Given the description of an element on the screen output the (x, y) to click on. 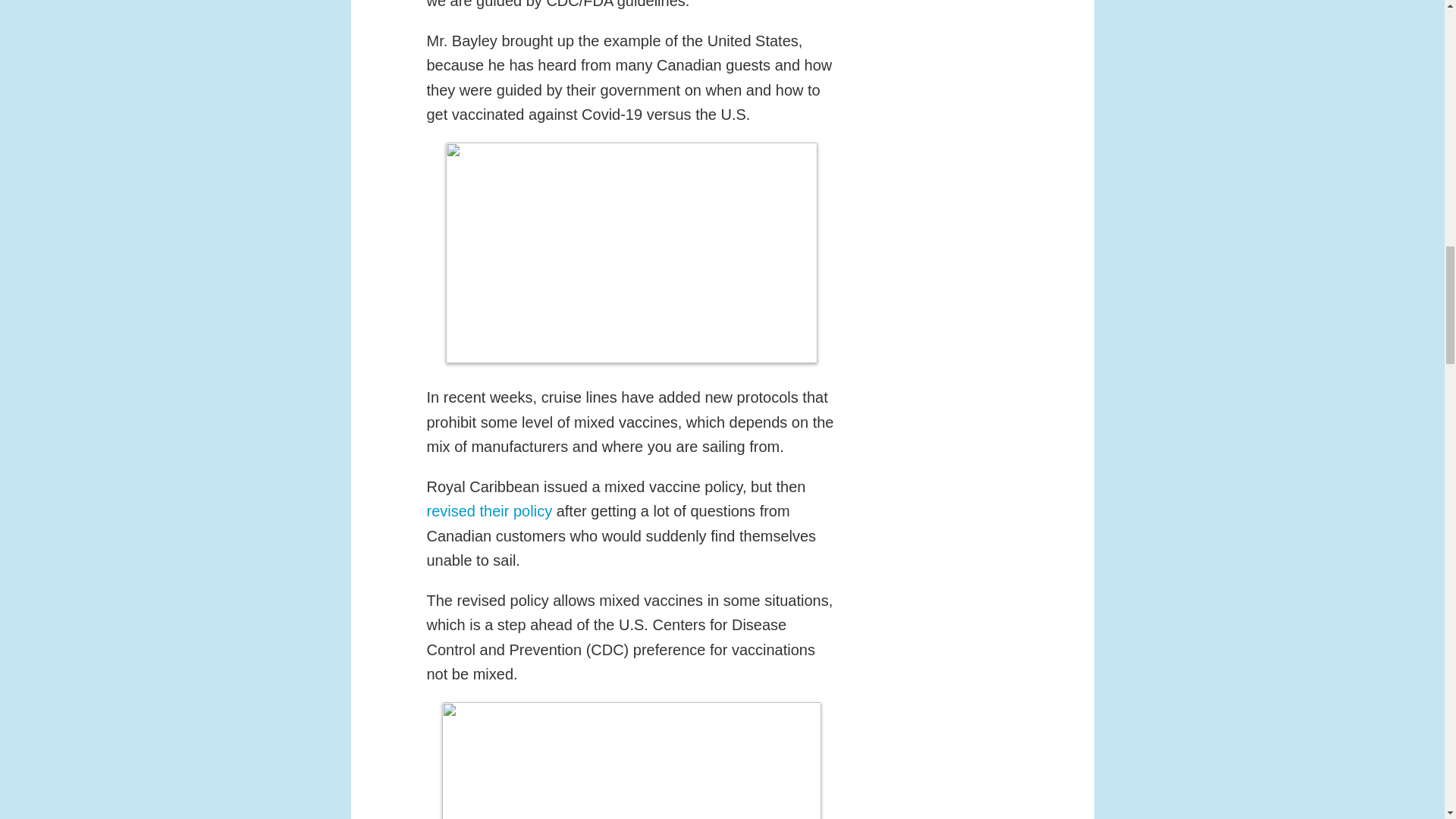
revised their policy (488, 510)
